Given the description of an element on the screen output the (x, y) to click on. 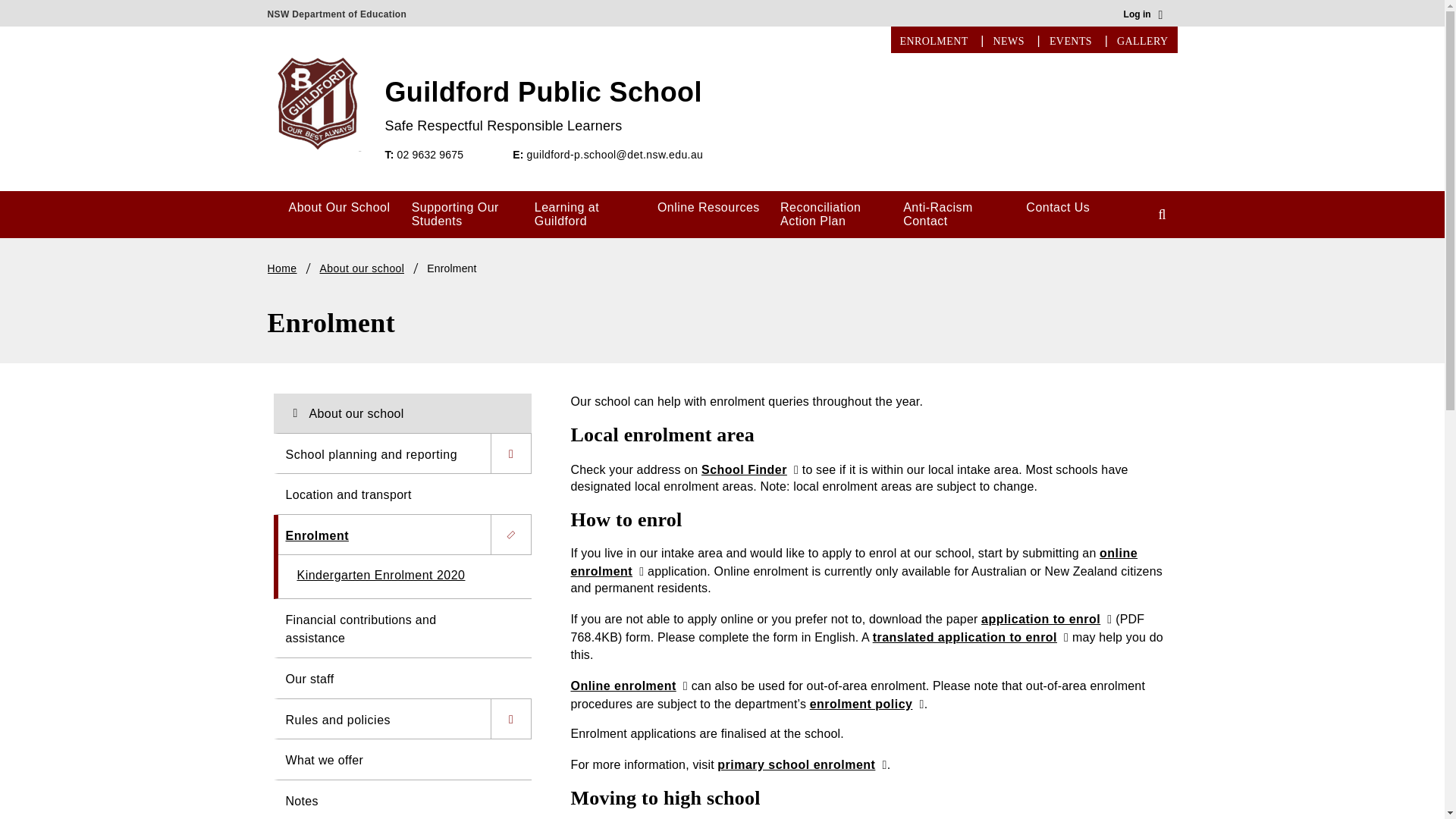
NSW Department of Education (336, 10)
Log in (1143, 14)
